Given the description of an element on the screen output the (x, y) to click on. 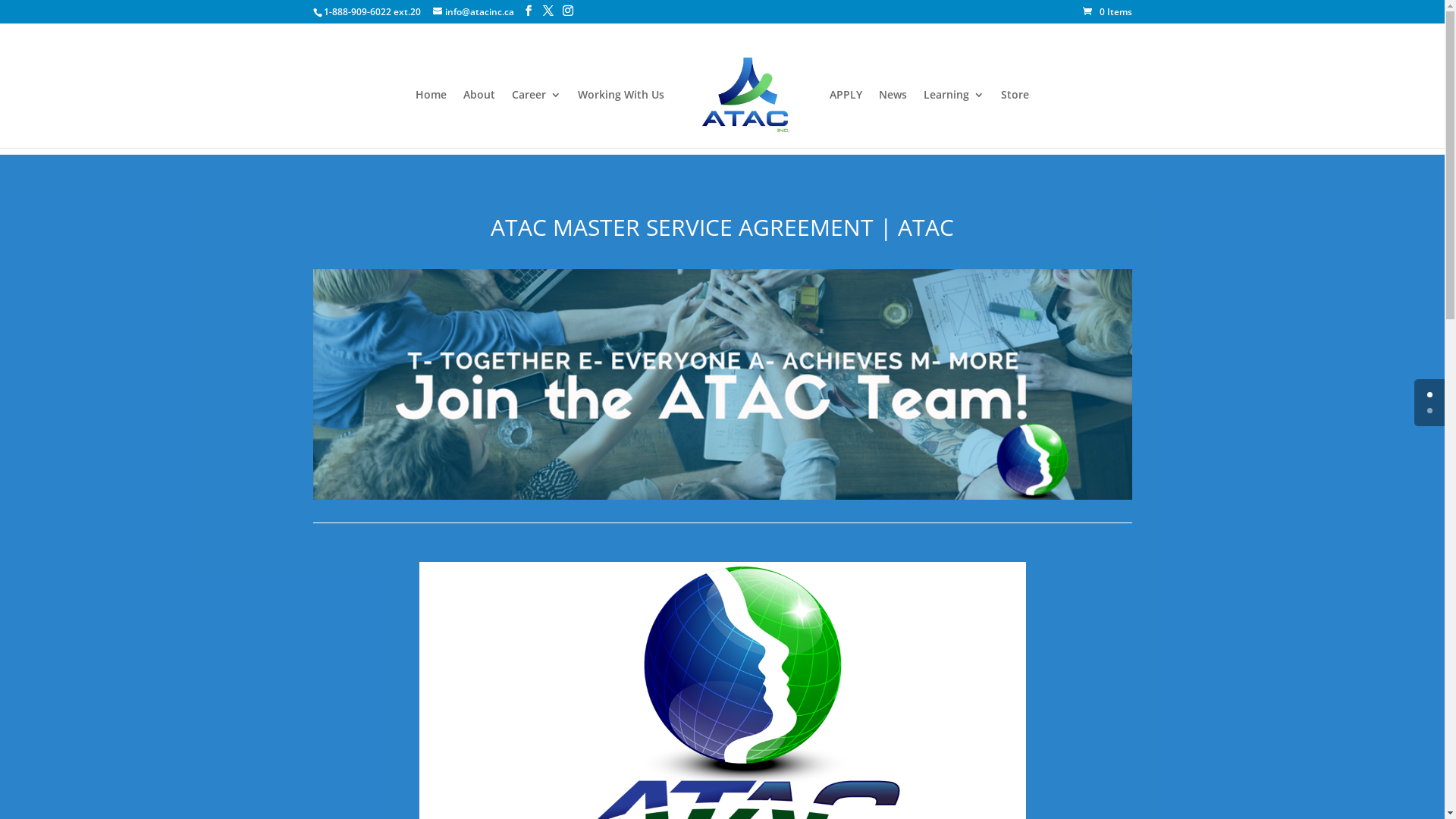
Working With Us Element type: text (620, 118)
0 Element type: text (1429, 394)
About Element type: text (479, 118)
Home Element type: text (430, 118)
Learning Element type: text (953, 118)
0 Items Element type: text (1107, 11)
Store Element type: text (1015, 118)
News Element type: text (892, 118)
APPLY Element type: text (845, 118)
Career Element type: text (536, 118)
info@atacinc.ca Element type: text (472, 11)
1 Element type: text (1429, 410)
